Given the description of an element on the screen output the (x, y) to click on. 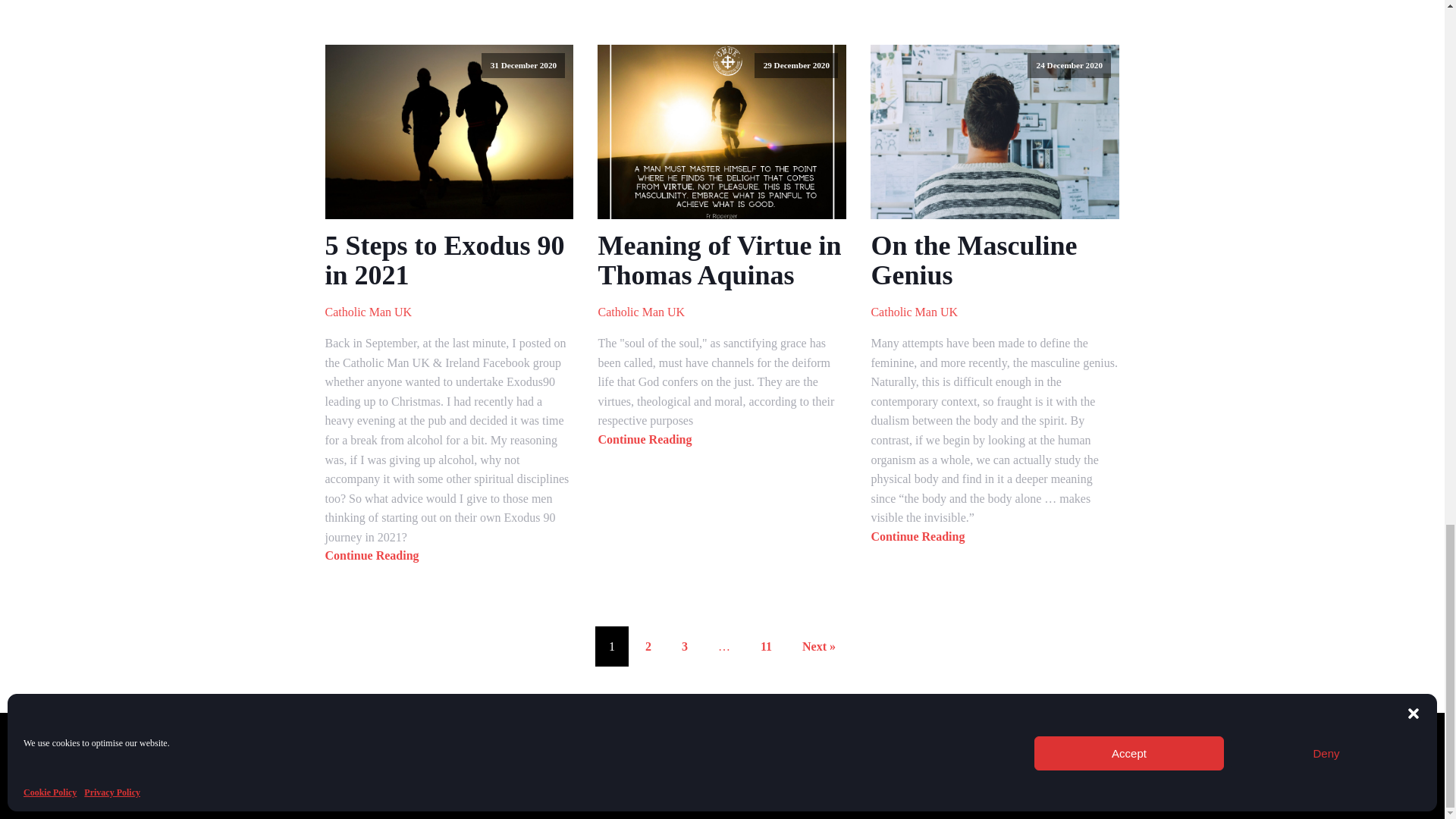
Search (511, 745)
